Given the description of an element on the screen output the (x, y) to click on. 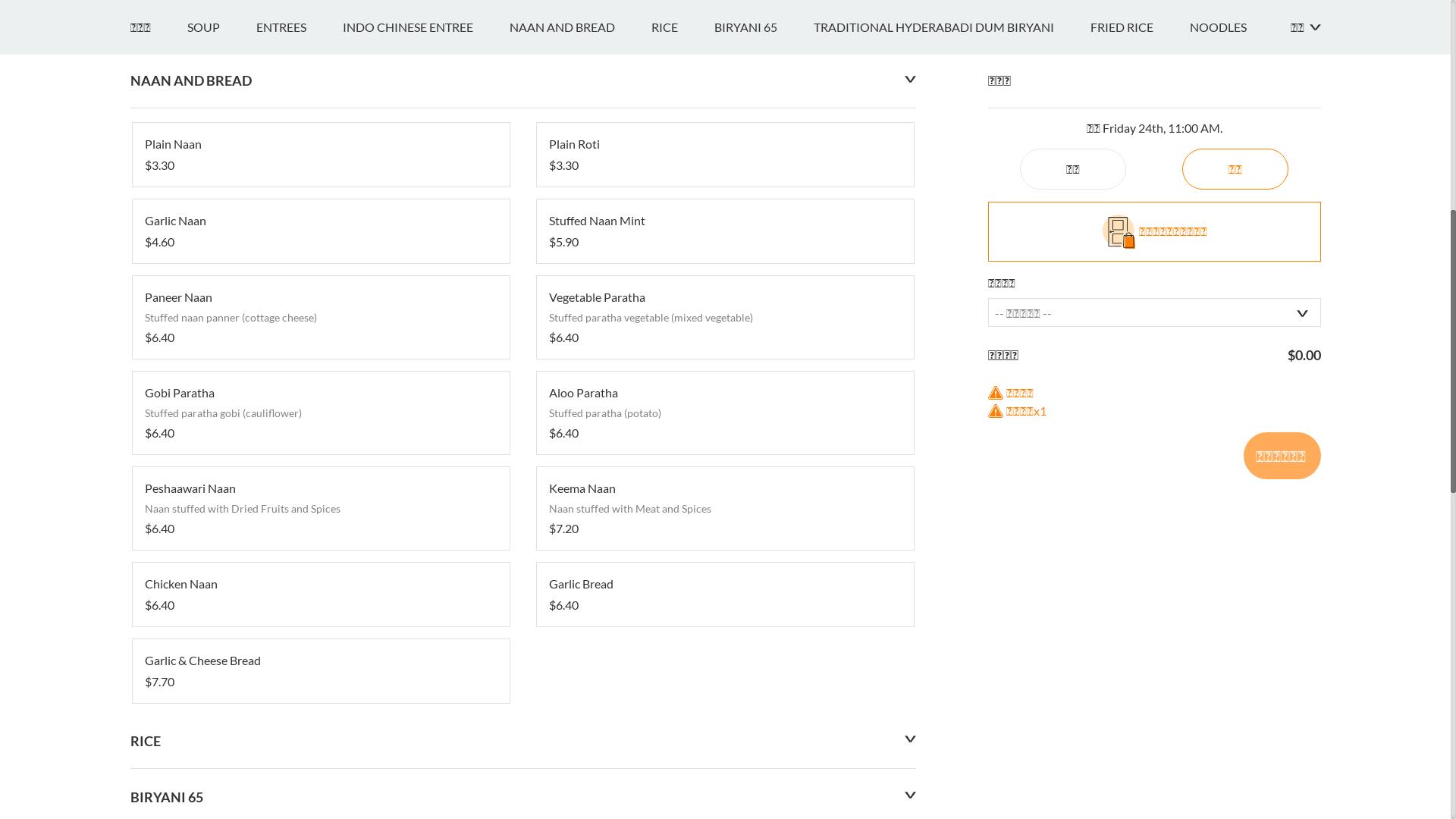
NOODLES Element type: text (1235, 636)
TRADITIONAL HYDERABADI DUM BIRYANI Element type: text (950, 636)
BIRYANI 65 Element type: text (763, 636)
NAAN AND BREAD Element type: text (580, 636)
Plain Naan
$3.30 Element type: text (320, 764)
Plain Roti
$3.30 Element type: text (725, 764)
Plain Naan
$3.30 Element type: text (320, 764)
Curry Star Indian Restaurant Element type: text (301, 223)
ENTREES Element type: text (299, 636)
EN Element type: text (138, 16)
FRIED RICE Element type: text (1139, 636)
INDO CHINESE ENTREE Element type: text (425, 636)
Plain Roti
$3.30 Element type: text (725, 764)
SOUP Element type: text (220, 636)
RICE Element type: text (681, 636)
3.9 Element type: text (146, 278)
